Given the description of an element on the screen output the (x, y) to click on. 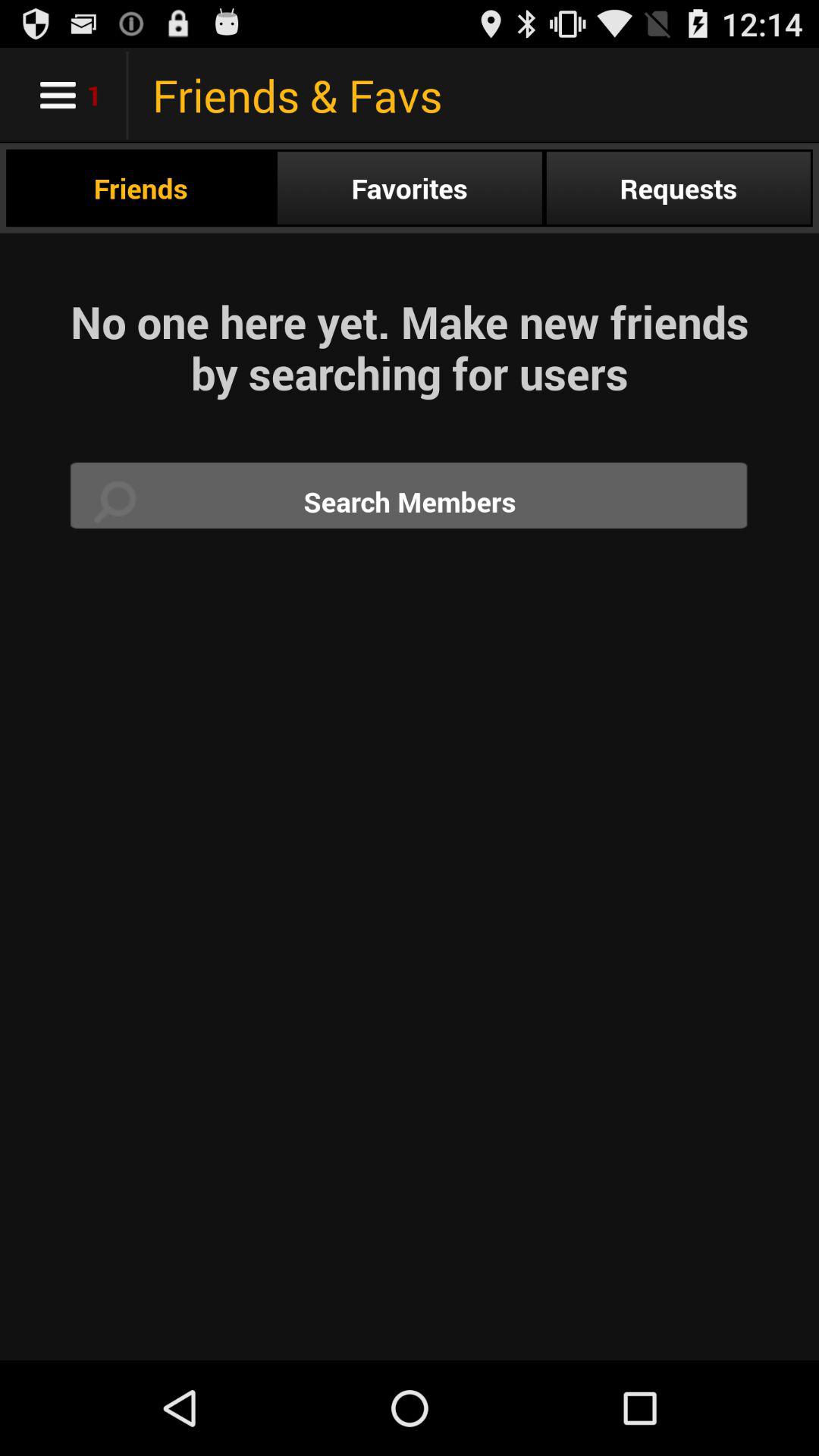
turn on app below the friends & favs app (678, 187)
